Given the description of an element on the screen output the (x, y) to click on. 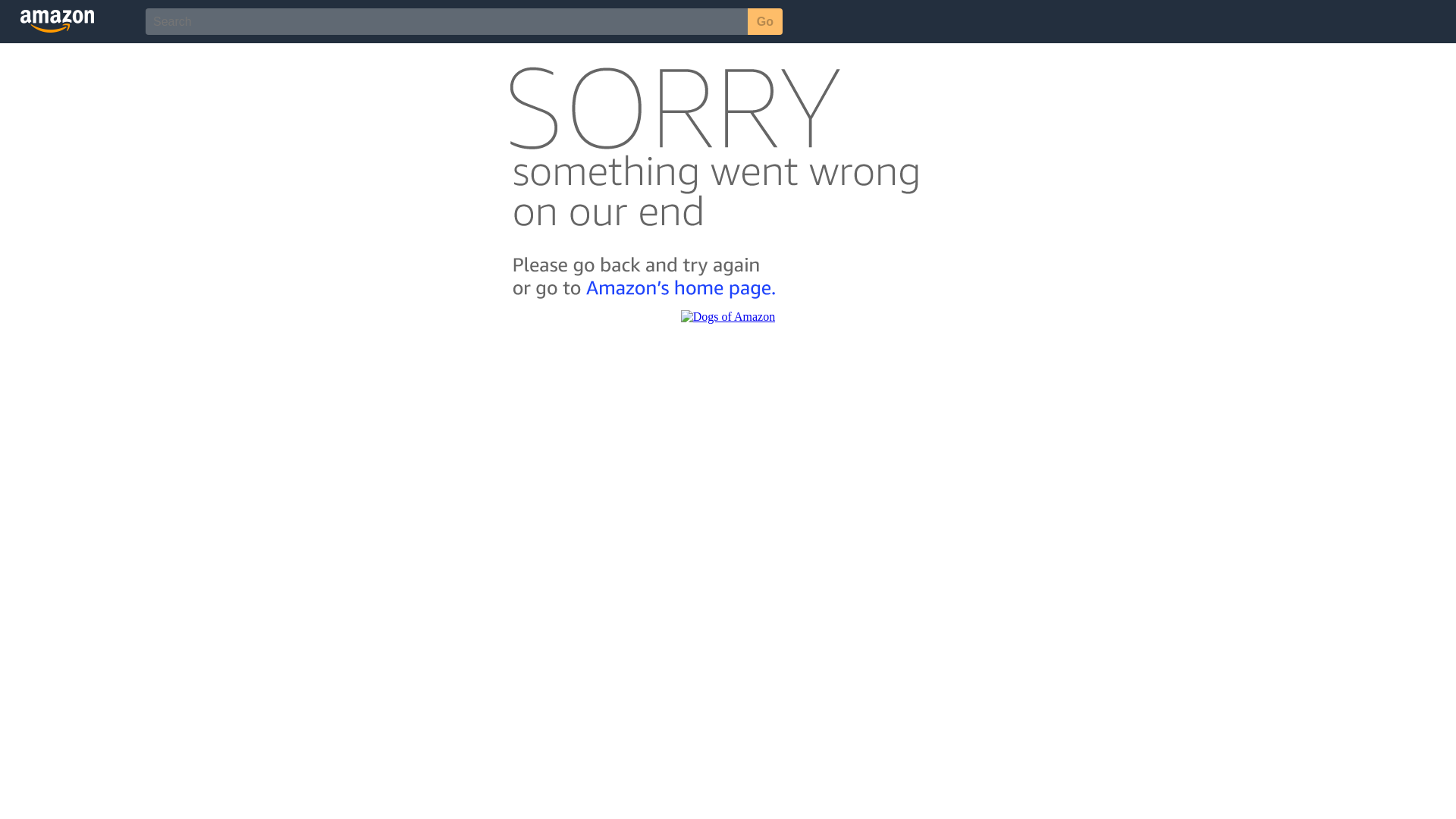
Go (765, 21)
Go (765, 21)
